Given the description of an element on the screen output the (x, y) to click on. 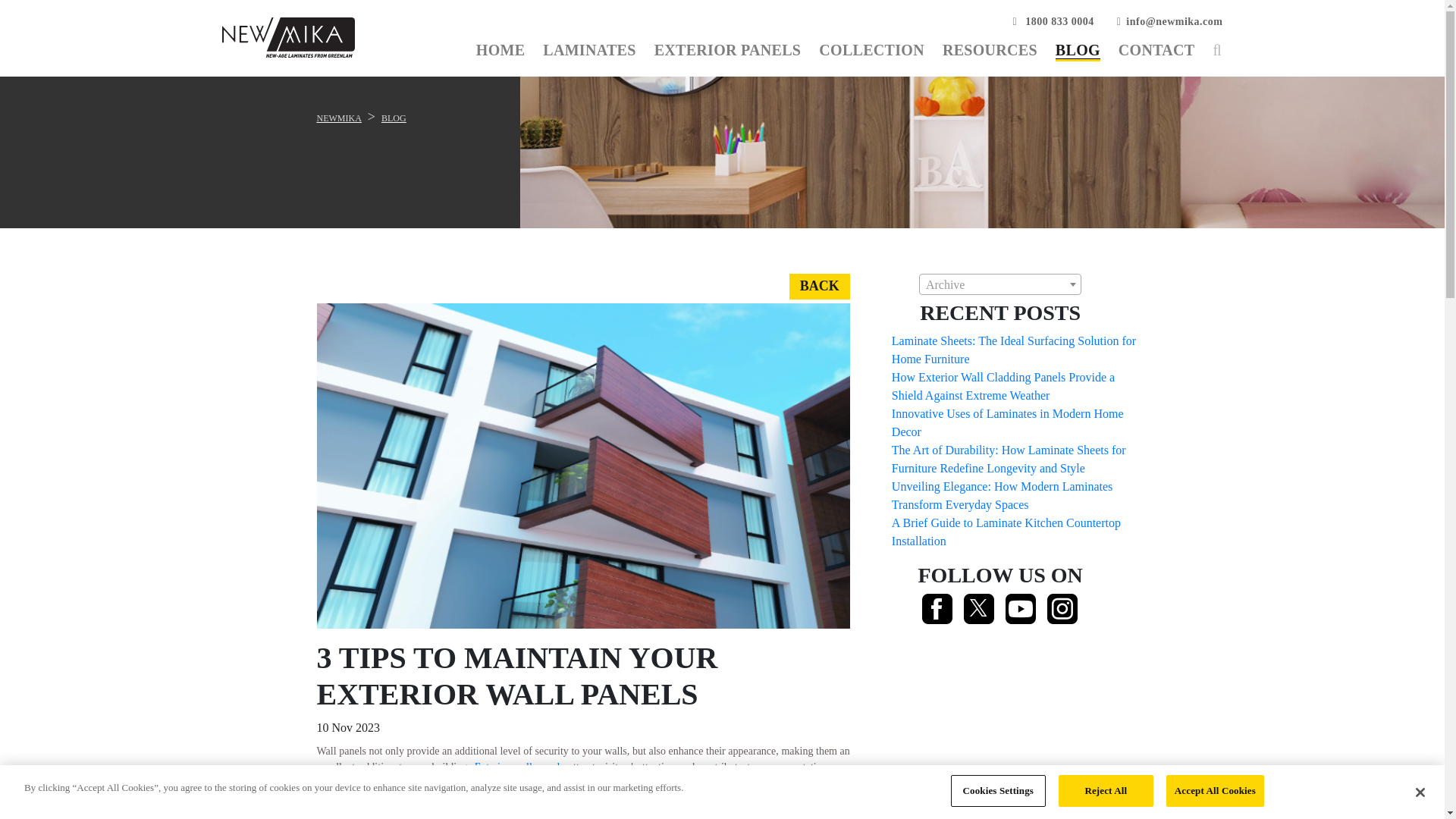
EXTERIOR PANELS (727, 49)
CONTACT (1156, 49)
COLLECTION (871, 49)
NEWMIKA (339, 118)
BLOG (1077, 49)
Exterior wall panels (519, 767)
A Brief Guide to Laminate Kitchen Countertop Installation (1006, 531)
Innovative Uses of Laminates in Modern Home Decor (1007, 422)
1800 833 0004 (1053, 21)
BACK (819, 286)
LAMINATES (588, 49)
